Given the description of an element on the screen output the (x, y) to click on. 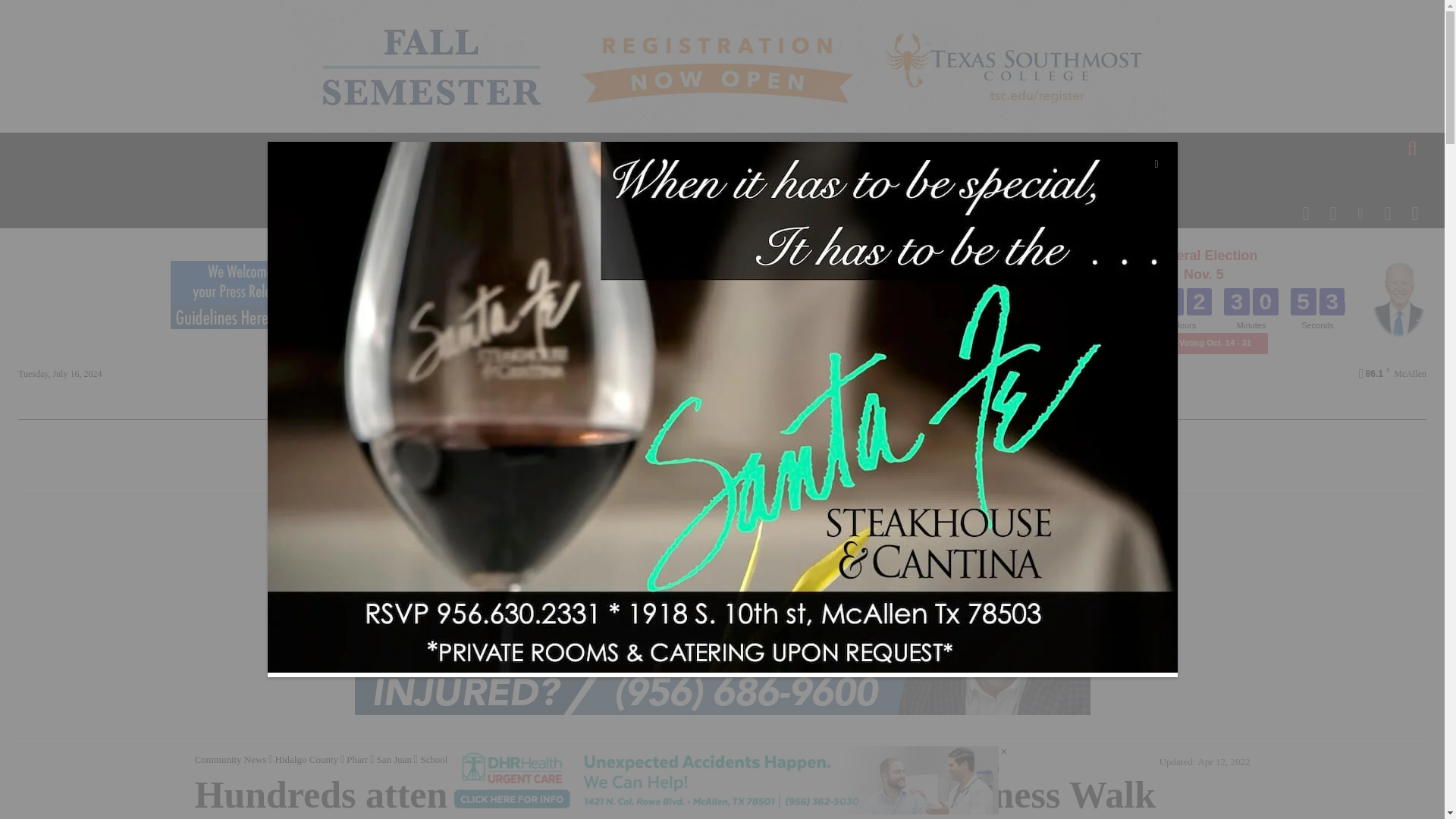
Search (34, 12)
